Given the description of an element on the screen output the (x, y) to click on. 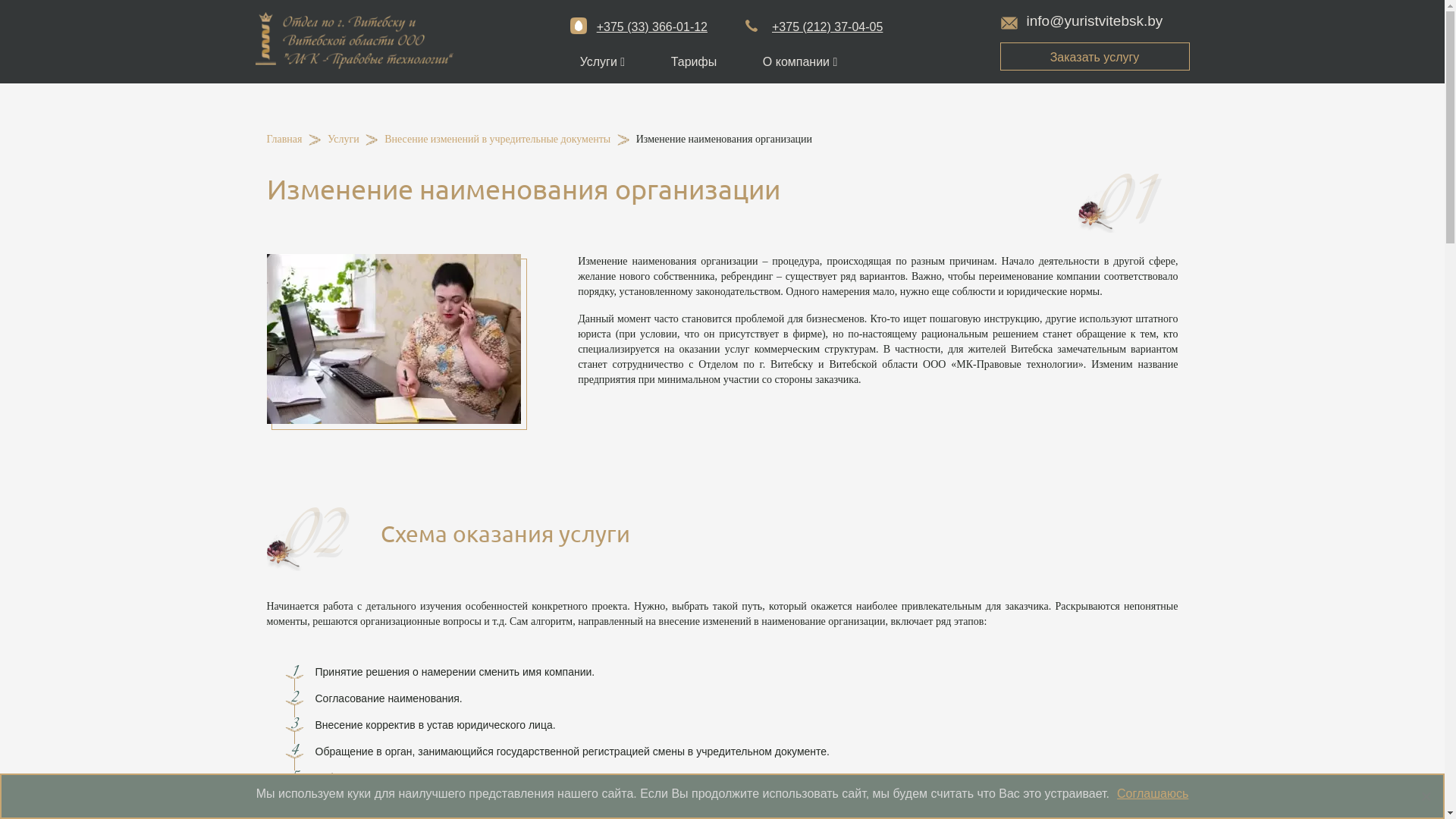
info@yuristvitebsk.by Element type: text (1080, 20)
+375 (212) 37-04-05 Element type: text (813, 26)
+375 (33) 366-01-12 Element type: text (638, 26)
